Given the description of an element on the screen output the (x, y) to click on. 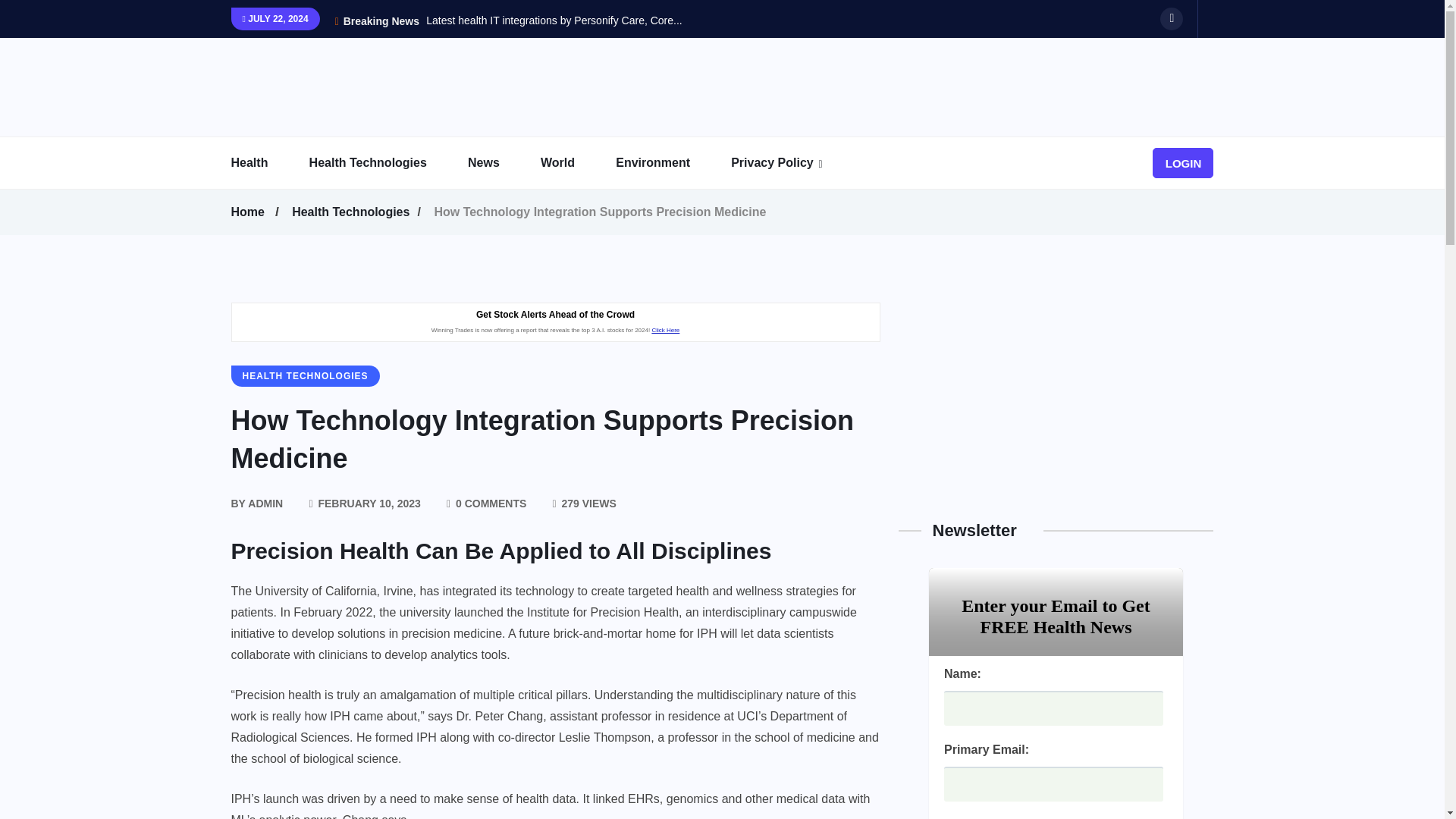
Home (249, 211)
launched the Institute for Precision Health (566, 612)
Whitelist (825, 204)
Health (267, 163)
Health Technologies (386, 163)
News (502, 163)
Latest health IT integrations by Personify Care, Core... (553, 20)
LOGIN (1182, 163)
HEALTH TECHNOLOGIES (304, 375)
Environment (671, 163)
University of California, Irvine (334, 590)
Health Technologies (353, 211)
Privacy Policy (790, 163)
World (576, 163)
